Given the description of an element on the screen output the (x, y) to click on. 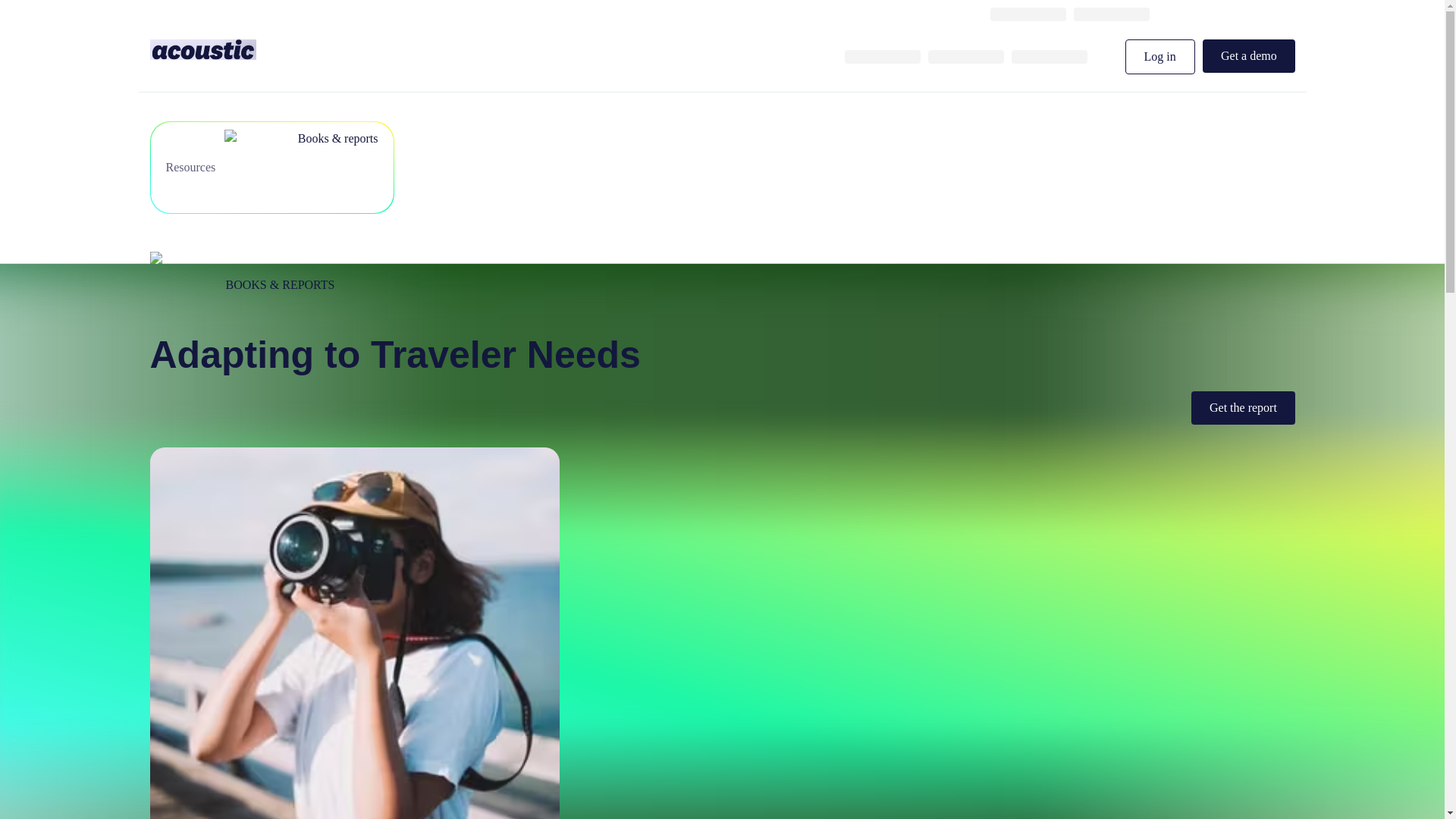
Acoustic (202, 48)
Log in (1160, 56)
Resources (227, 167)
Get the report (1243, 408)
